Given the description of an element on the screen output the (x, y) to click on. 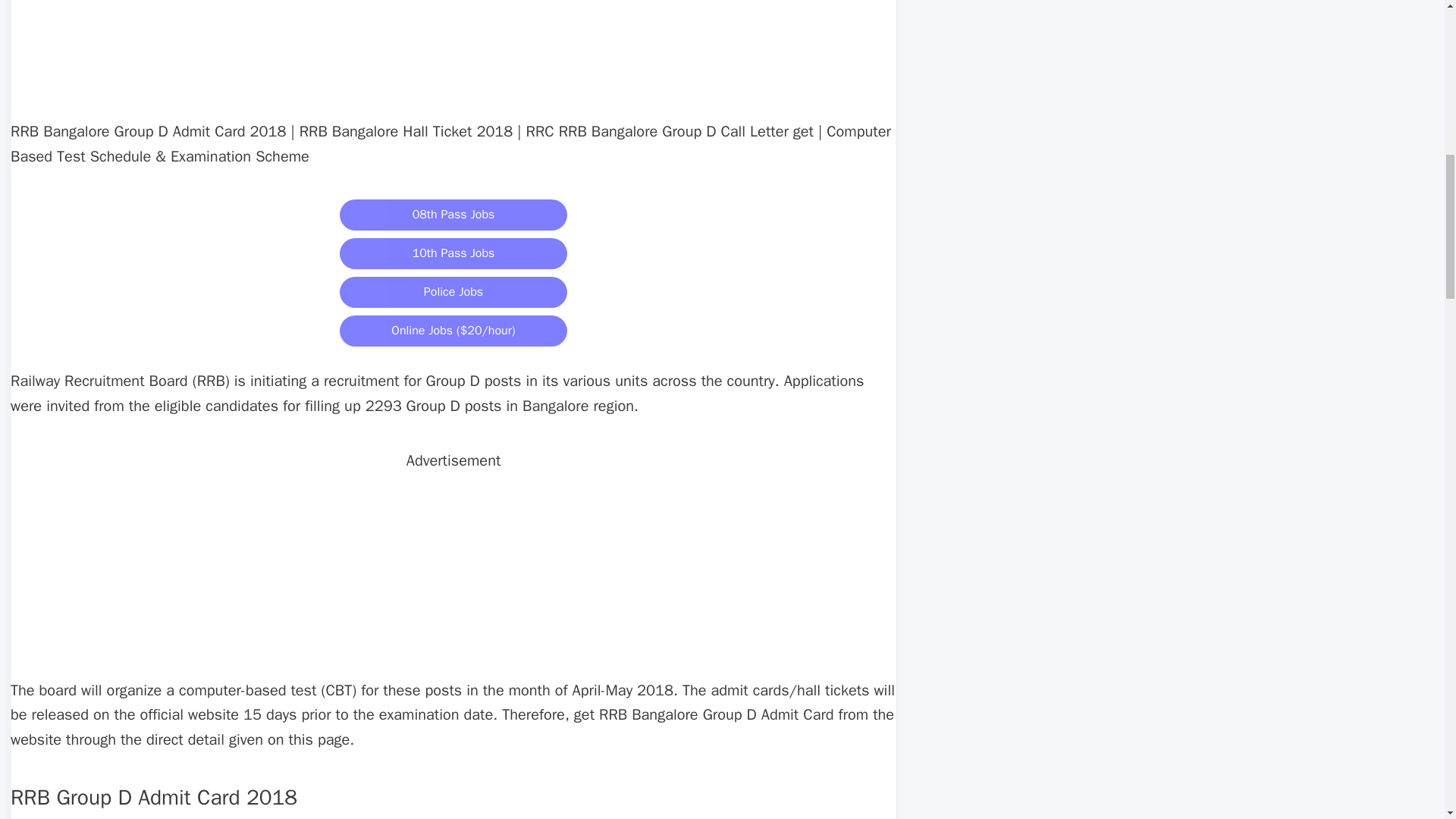
Police Jobs (453, 290)
Police Jobs (453, 291)
10th Pass Jobs (453, 253)
10th Pass Jobs (453, 251)
08th Pass Jobs (453, 212)
08th Pass Jobs (453, 214)
